Given the description of an element on the screen output the (x, y) to click on. 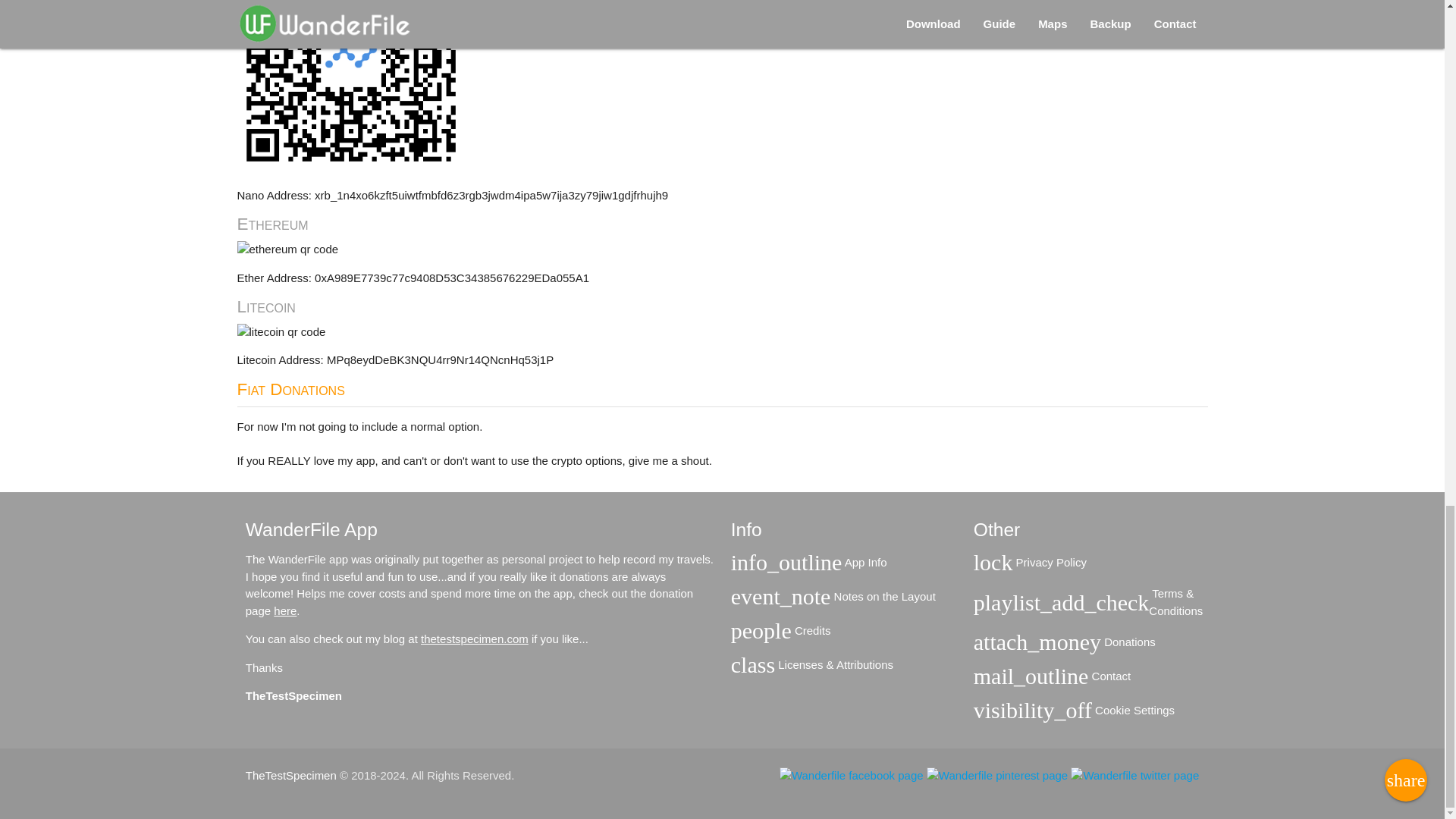
thetestspecimen.com (474, 638)
 Privacy Policy (1048, 562)
 Donations (1128, 642)
 Notes on the Layout (881, 597)
 Contact (1109, 676)
here (285, 610)
 Credits (811, 630)
 App Info (863, 562)
 Cookie Settings (1133, 710)
TheTestSpecimen (291, 775)
